Given the description of an element on the screen output the (x, y) to click on. 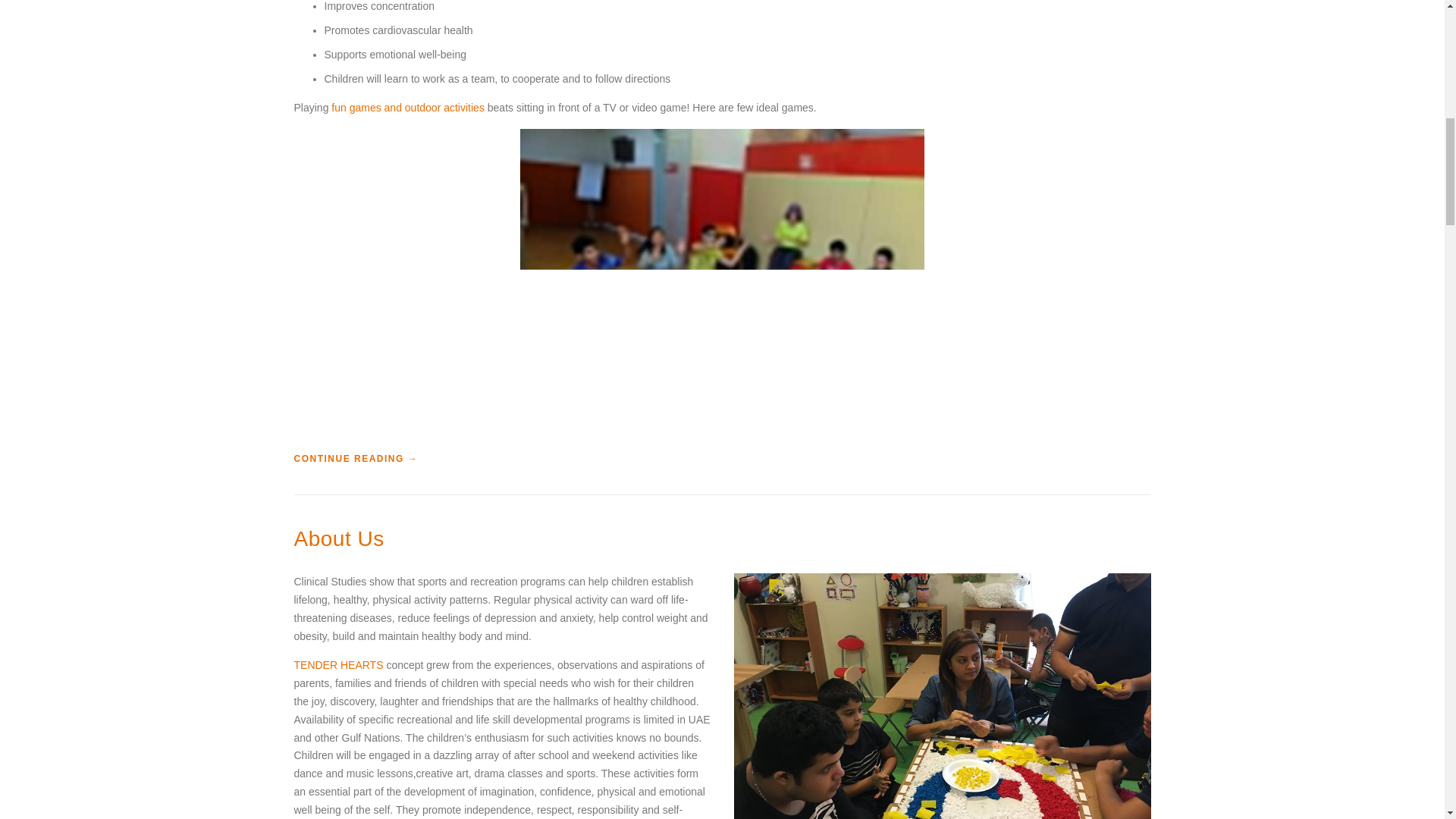
fun games and outdoor activities (407, 107)
About Us (339, 538)
Special Needs Children (721, 280)
TENDER HEARTS (339, 664)
